Given the description of an element on the screen output the (x, y) to click on. 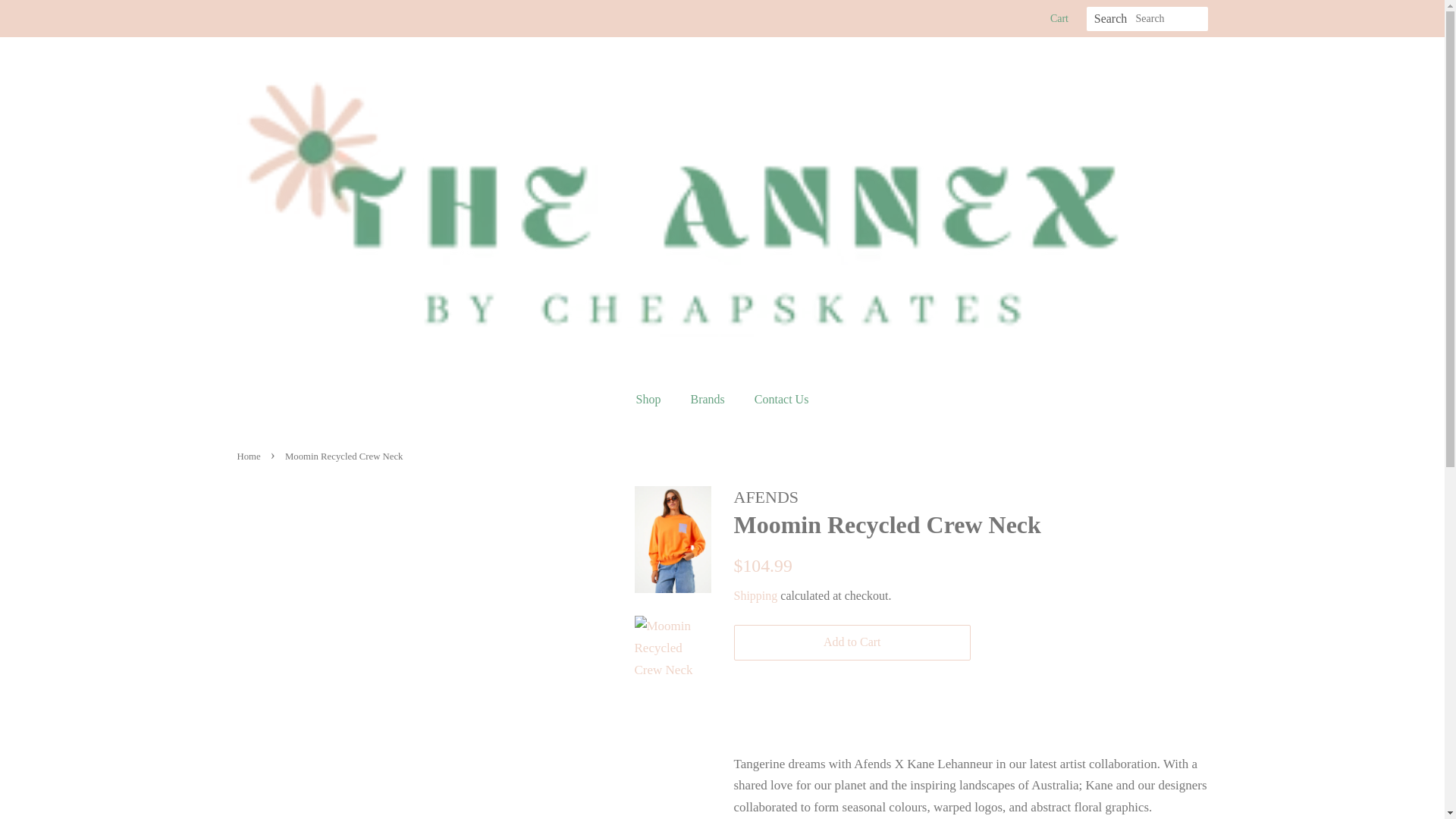
Search (1110, 18)
Back to the frontpage (249, 456)
Cart (1058, 18)
